Given the description of an element on the screen output the (x, y) to click on. 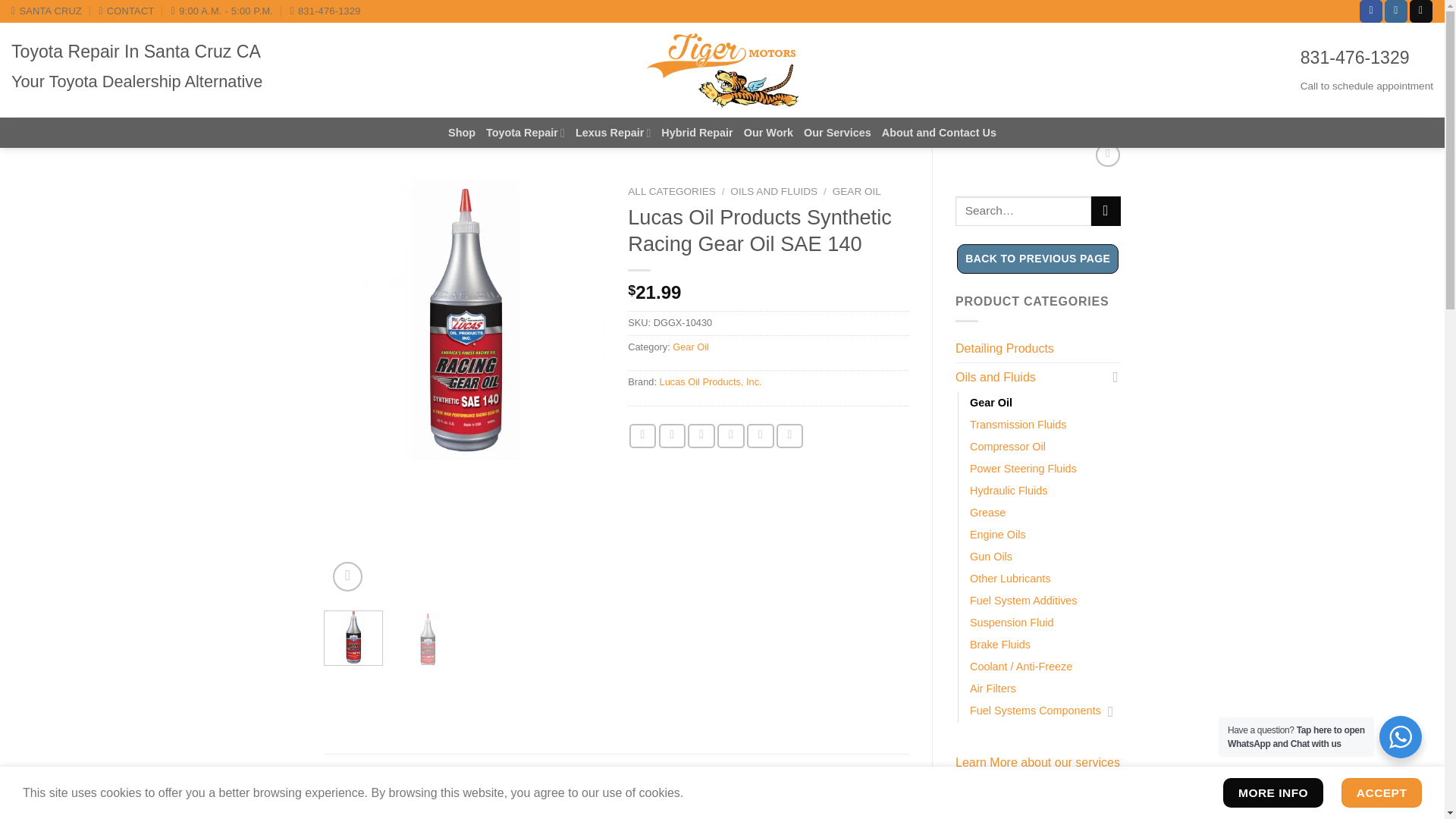
Our Work (768, 132)
Send us an email (1420, 11)
Our Services (836, 132)
9:00 A.M. - 5:00 P.M. (222, 11)
831-476-1329 (325, 11)
Detailing Products (1038, 348)
Transmission Fluids (1017, 424)
Tiger Motors Inc. - Santa Cruz Toyota Dealership Alternative (721, 70)
SANTA CRUZ (46, 11)
Lexus Repair (612, 132)
